Given the description of an element on the screen output the (x, y) to click on. 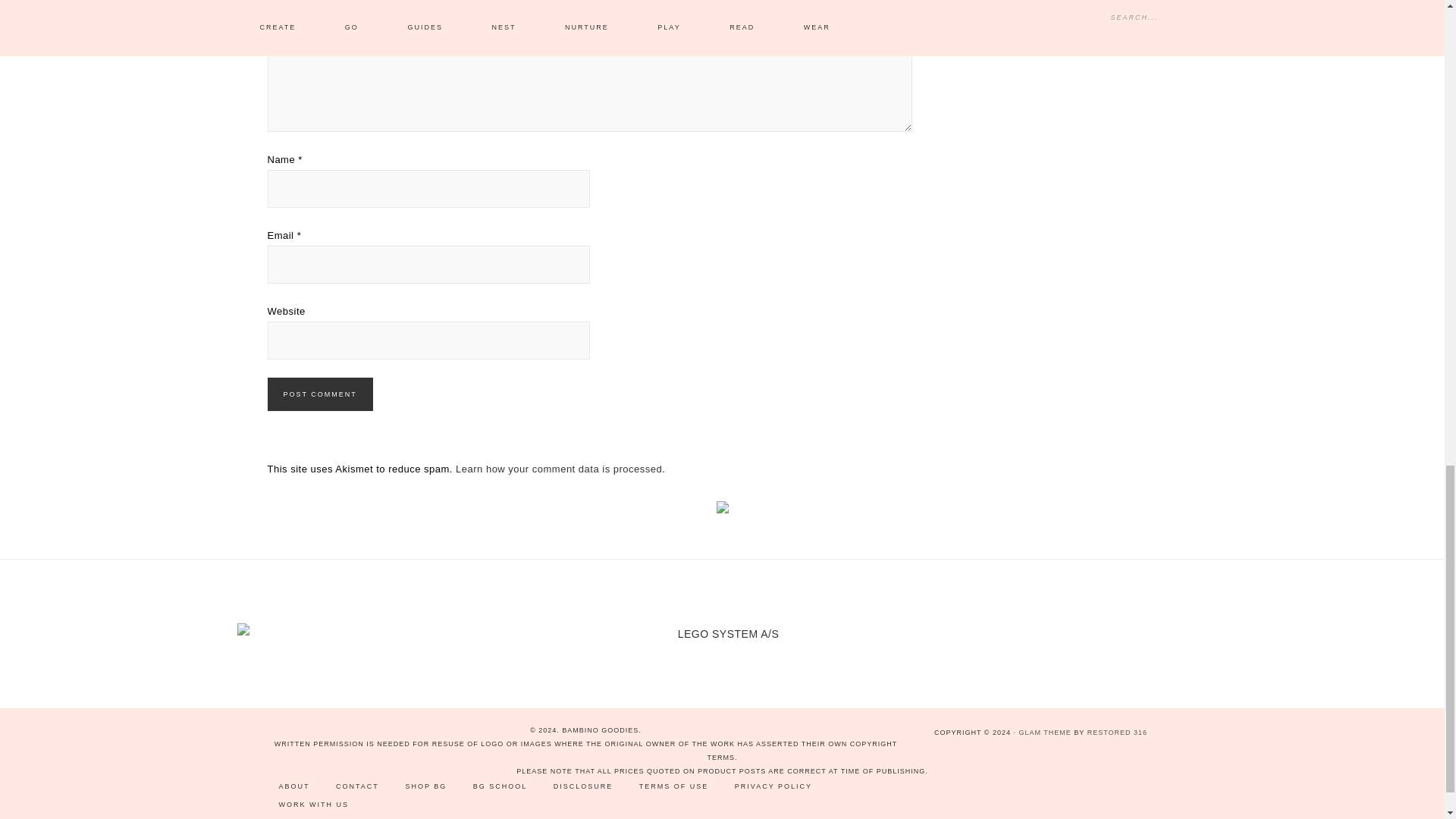
Post Comment (319, 394)
